Given the description of an element on the screen output the (x, y) to click on. 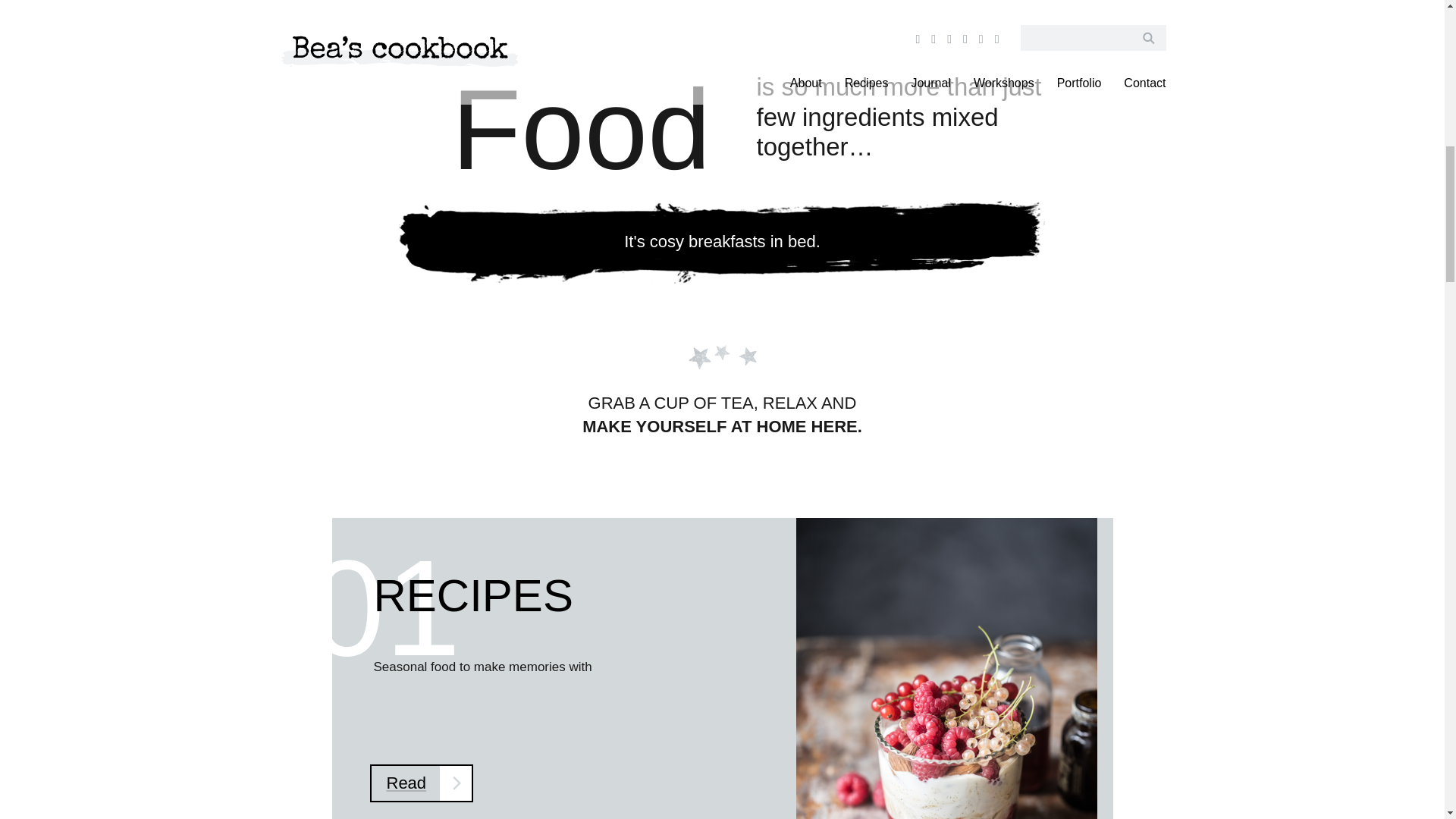
RECIPES (472, 595)
Read (421, 783)
